Given the description of an element on the screen output the (x, y) to click on. 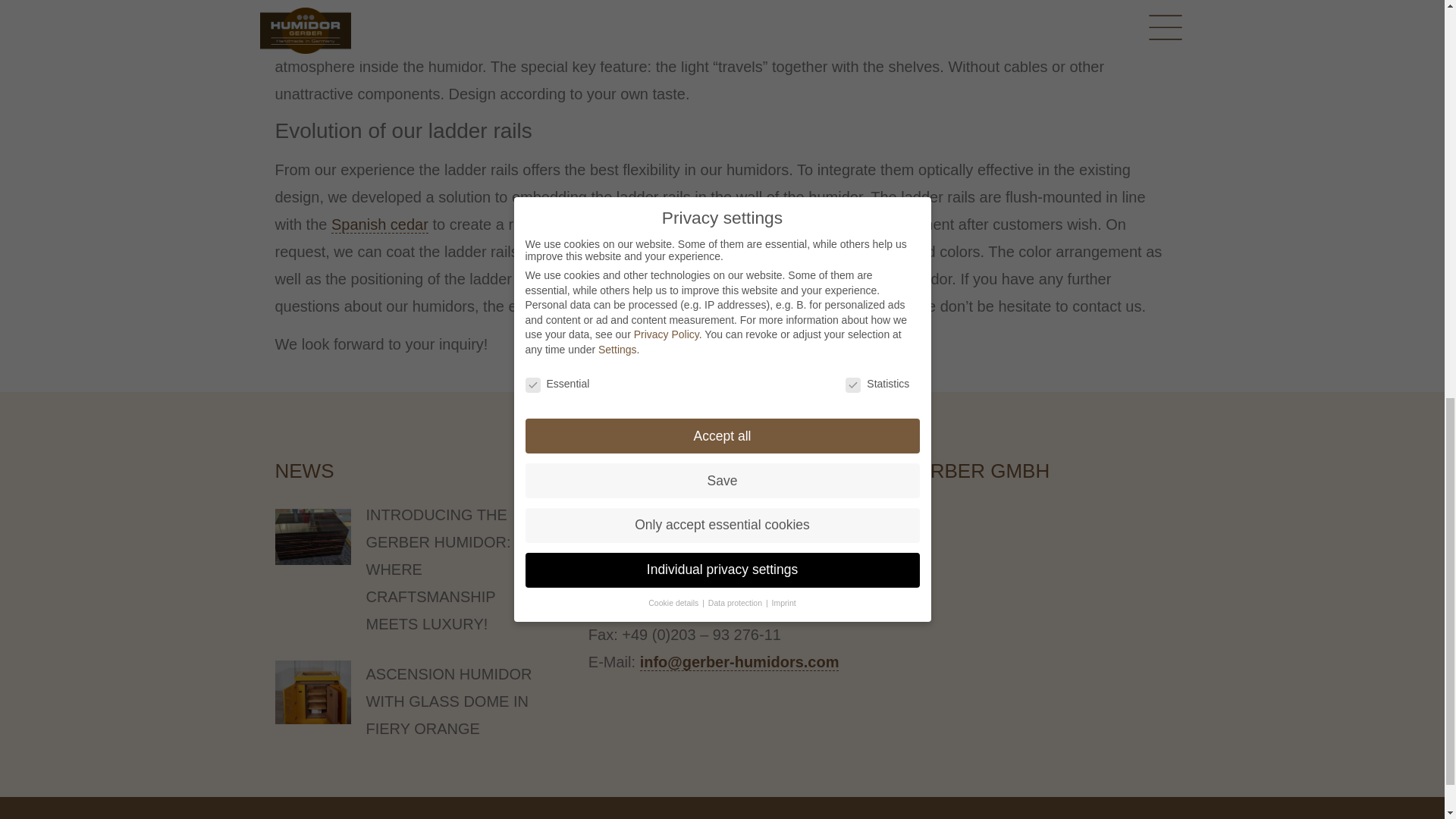
Spanish cedar (379, 224)
ASCENSION HUMIDOR WITH GLASS DOME IN FIERY ORANGE (448, 701)
